Given the description of an element on the screen output the (x, y) to click on. 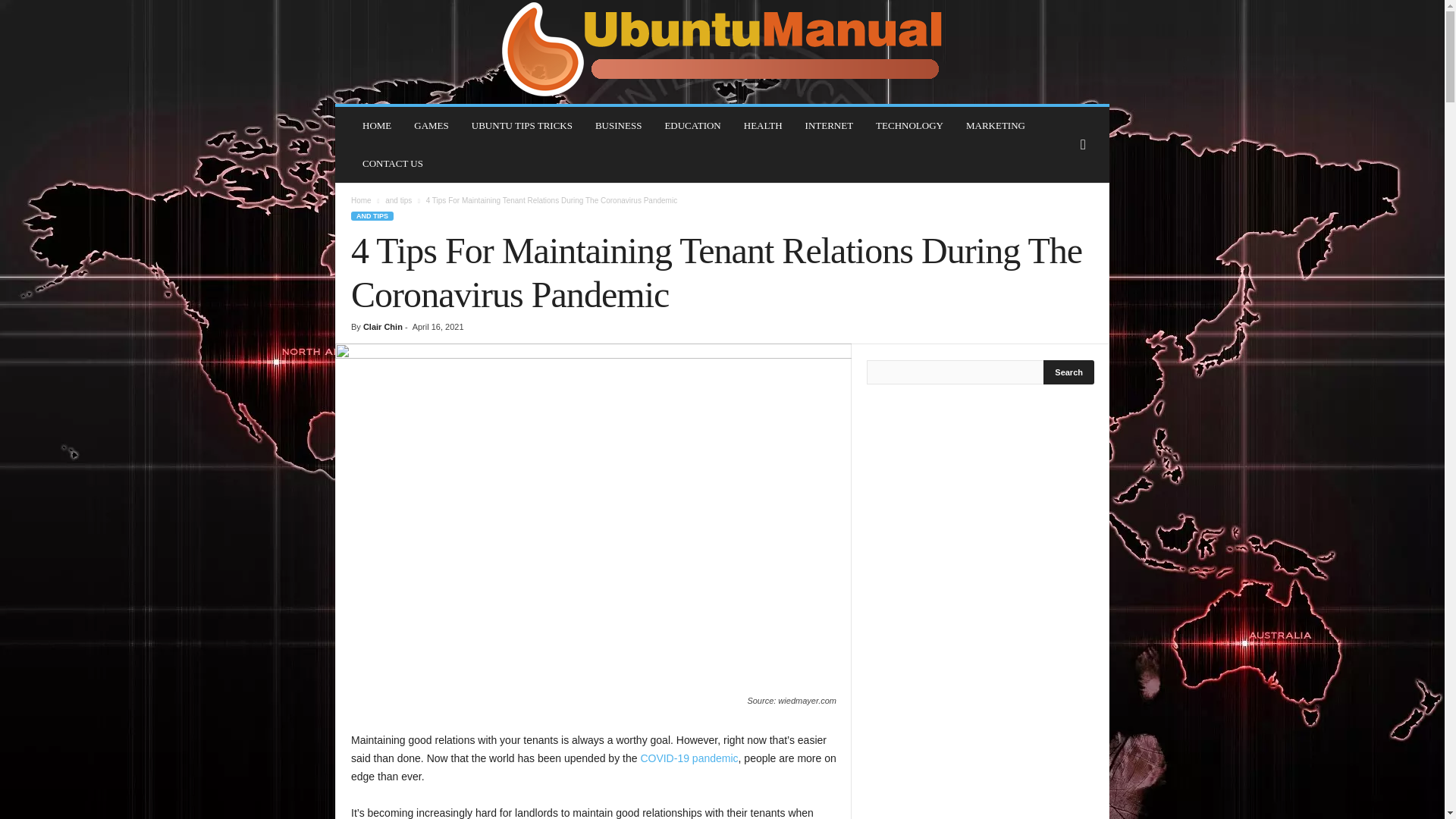
HOME (376, 125)
Home (360, 200)
UBUNTU TIPS TRICKS (521, 125)
COVID-19 pandemic (689, 758)
EDUCATION (692, 125)
MARKETING (995, 125)
HEALTH (762, 125)
CONTACT US (391, 163)
View all posts in and tips (398, 200)
BUSINESS (617, 125)
INTERNET (828, 125)
TECHNOLOGY (909, 125)
Ubuntu Manual (721, 52)
AND TIPS (371, 215)
